Given the description of an element on the screen output the (x, y) to click on. 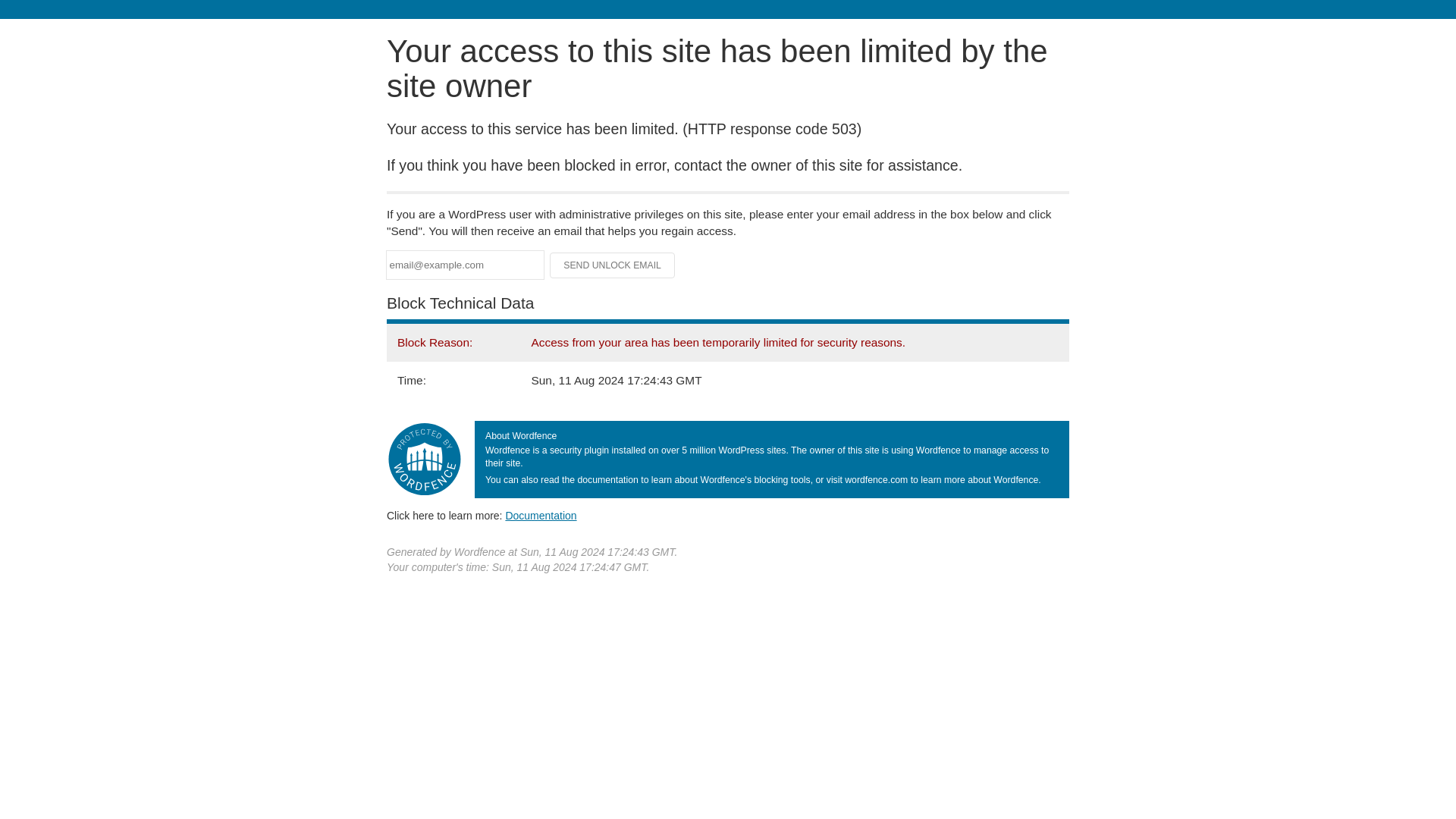
Send Unlock Email (612, 265)
Send Unlock Email (612, 265)
Documentation (540, 515)
